Given the description of an element on the screen output the (x, y) to click on. 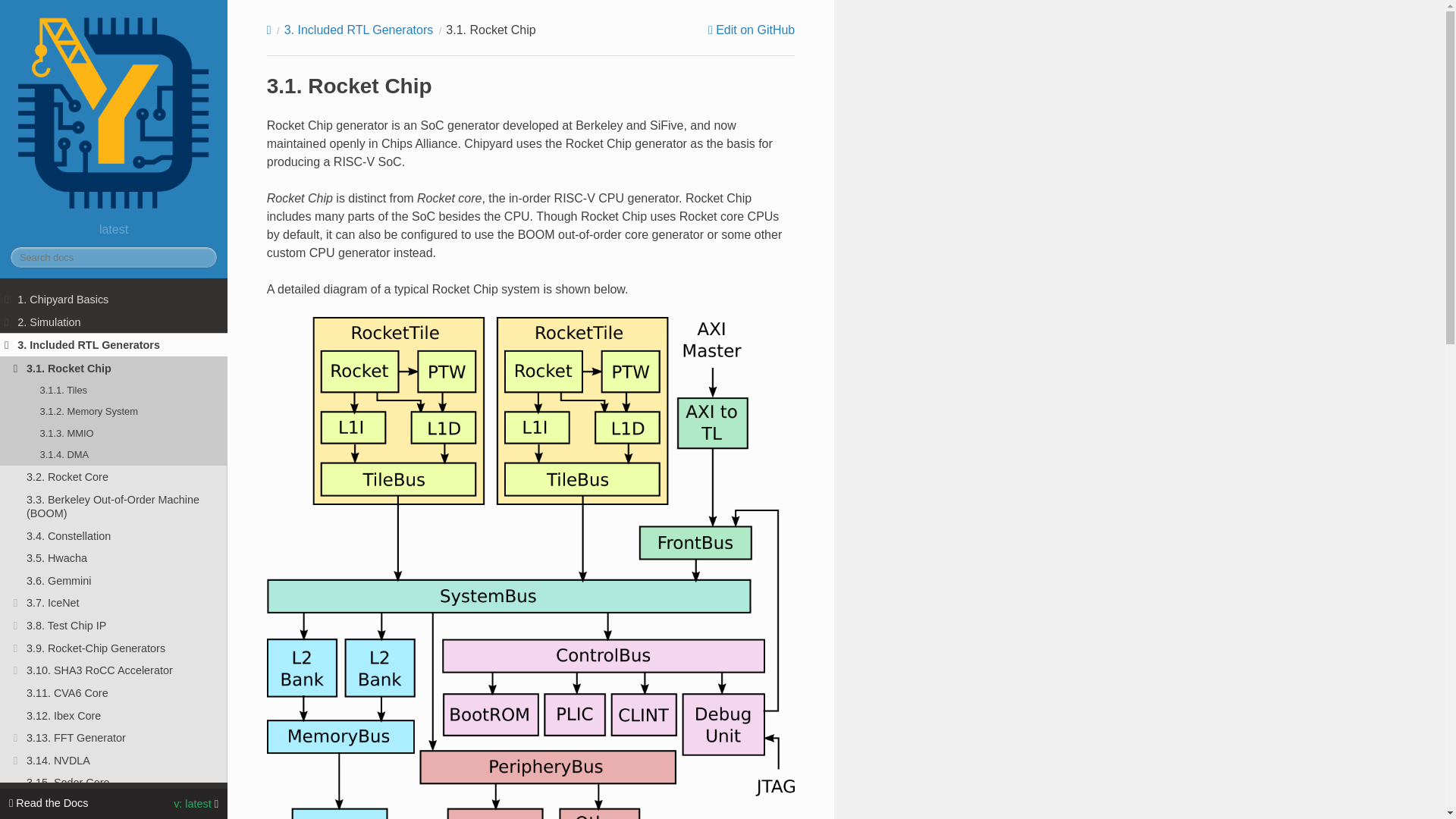
2. Simulation (113, 322)
1. Chipyard Basics (113, 299)
